Given the description of an element on the screen output the (x, y) to click on. 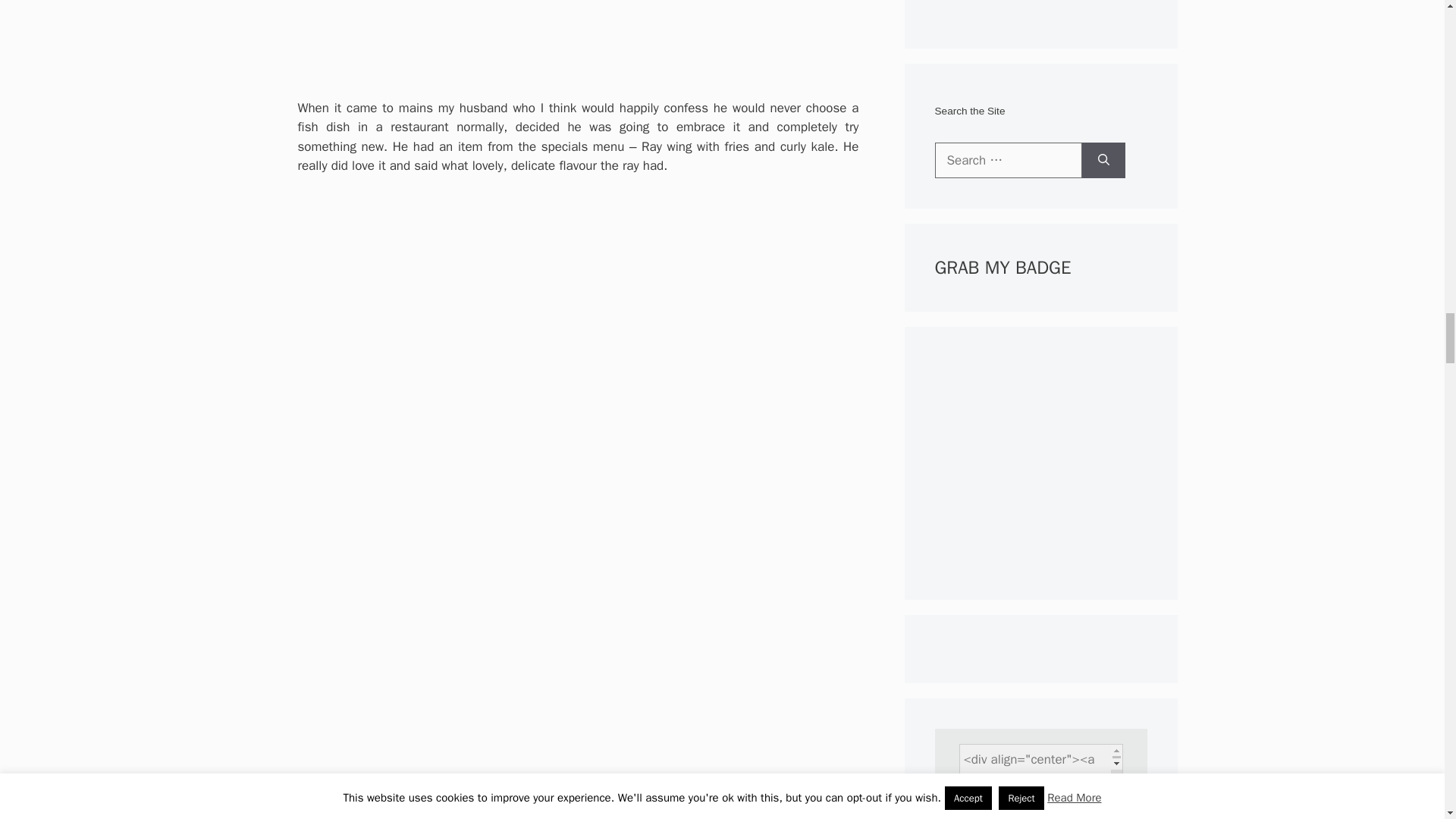
Search for: (1007, 160)
